Given the description of an element on the screen output the (x, y) to click on. 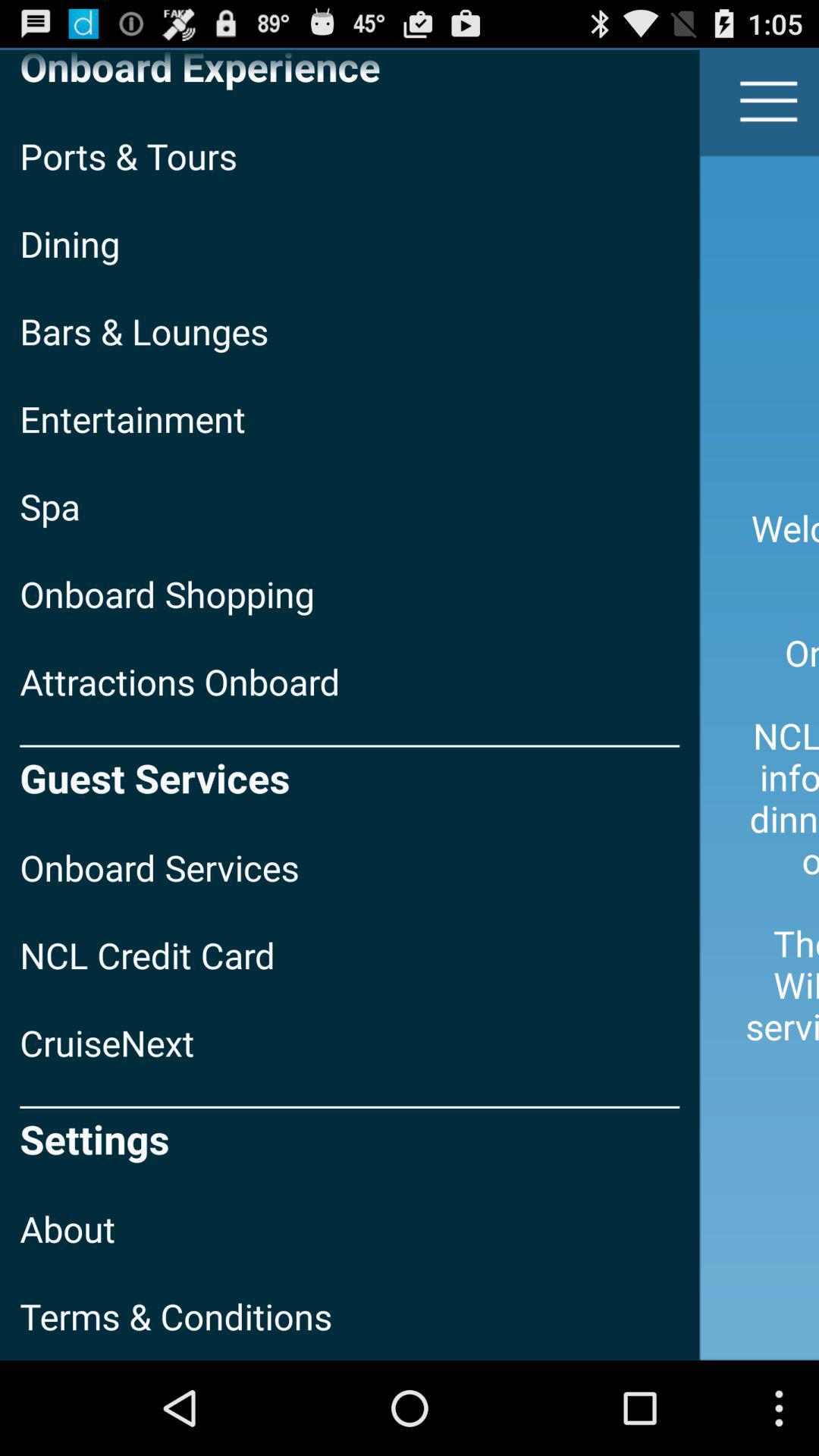
turn on the item next to the onboard experience item (769, 101)
